Given the description of an element on the screen output the (x, y) to click on. 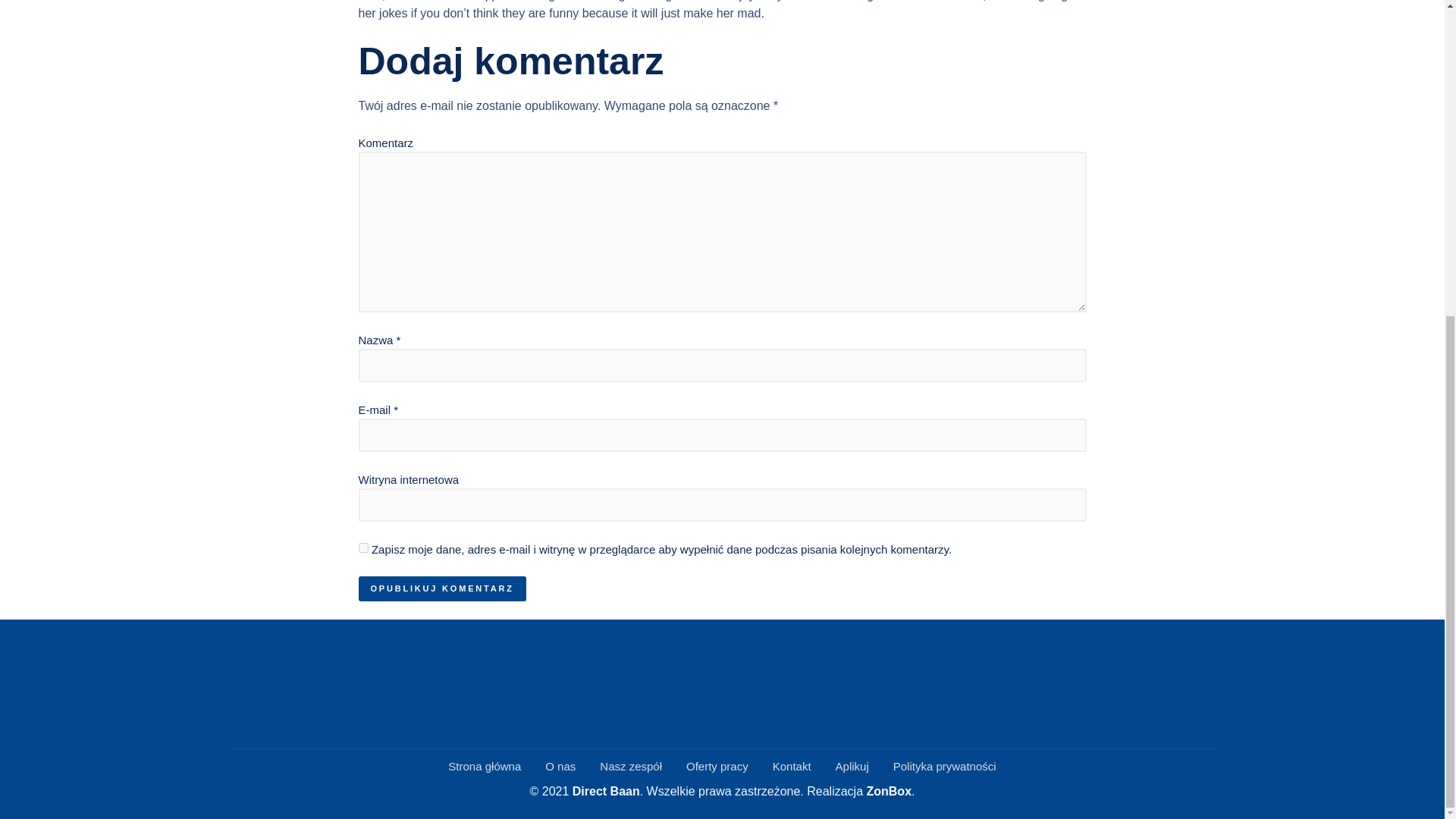
Aplikuj (852, 766)
yes (363, 547)
Opublikuj komentarz (441, 588)
O nas (559, 766)
ZonBox (888, 790)
Kontakt (791, 766)
Oferty pracy (716, 766)
Opublikuj komentarz (441, 588)
